Given the description of an element on the screen output the (x, y) to click on. 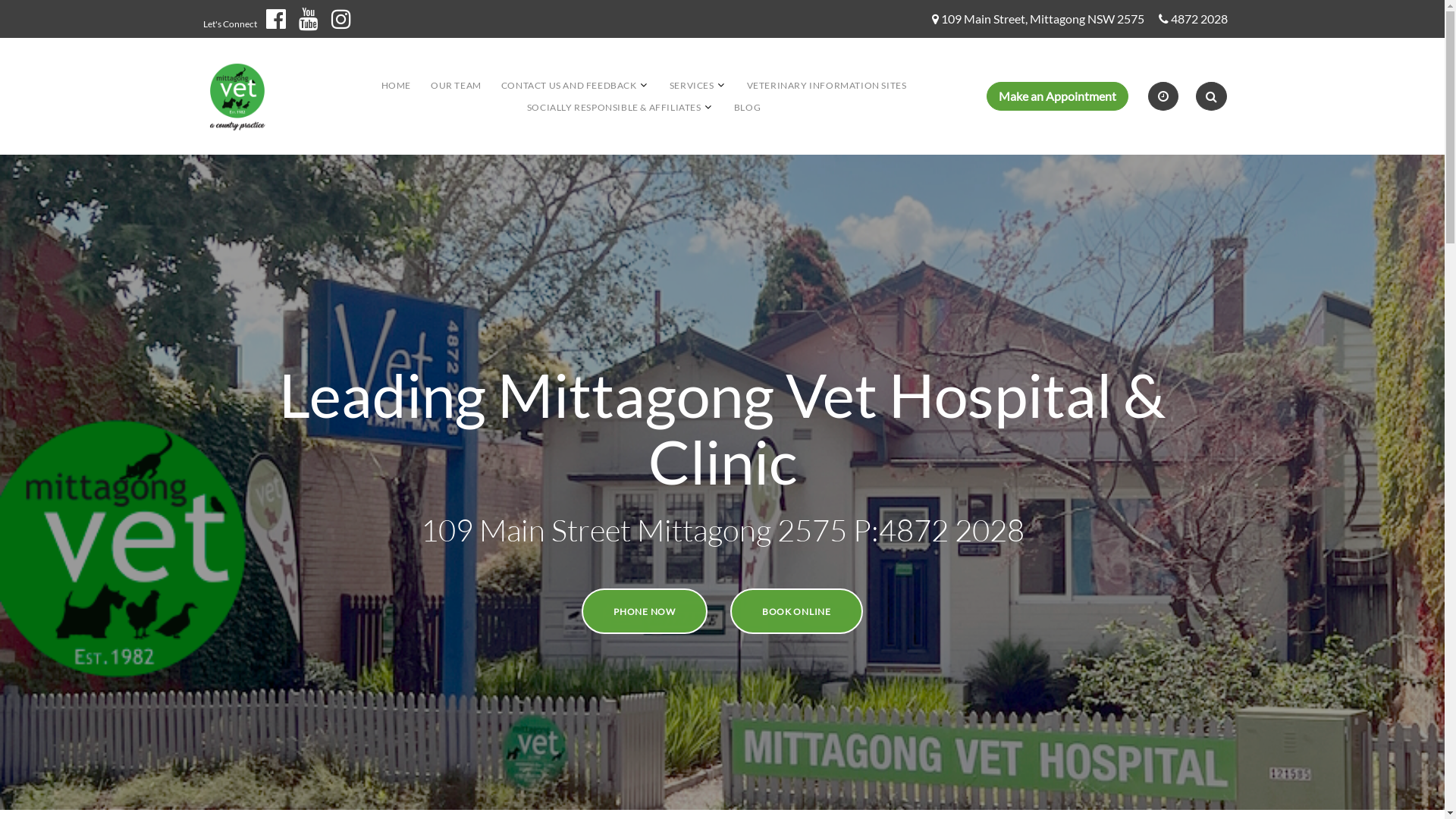
BOOK ONLINE Element type: text (796, 610)
CONTACT US AND FEEDBACK Element type: text (569, 85)
Make an Appointment Element type: text (1056, 95)
OUR TEAM Element type: text (455, 85)
SERVICES Element type: text (691, 85)
PHONE NOW Element type: text (643, 610)
SOCIALLY RESPONSIBLE & AFFILIATES Element type: text (614, 106)
VETERINARY INFORMATION SITES Element type: text (826, 85)
BLOG Element type: text (747, 106)
4872 2028 Element type: text (1198, 19)
HOME Element type: text (396, 85)
